Given the description of an element on the screen output the (x, y) to click on. 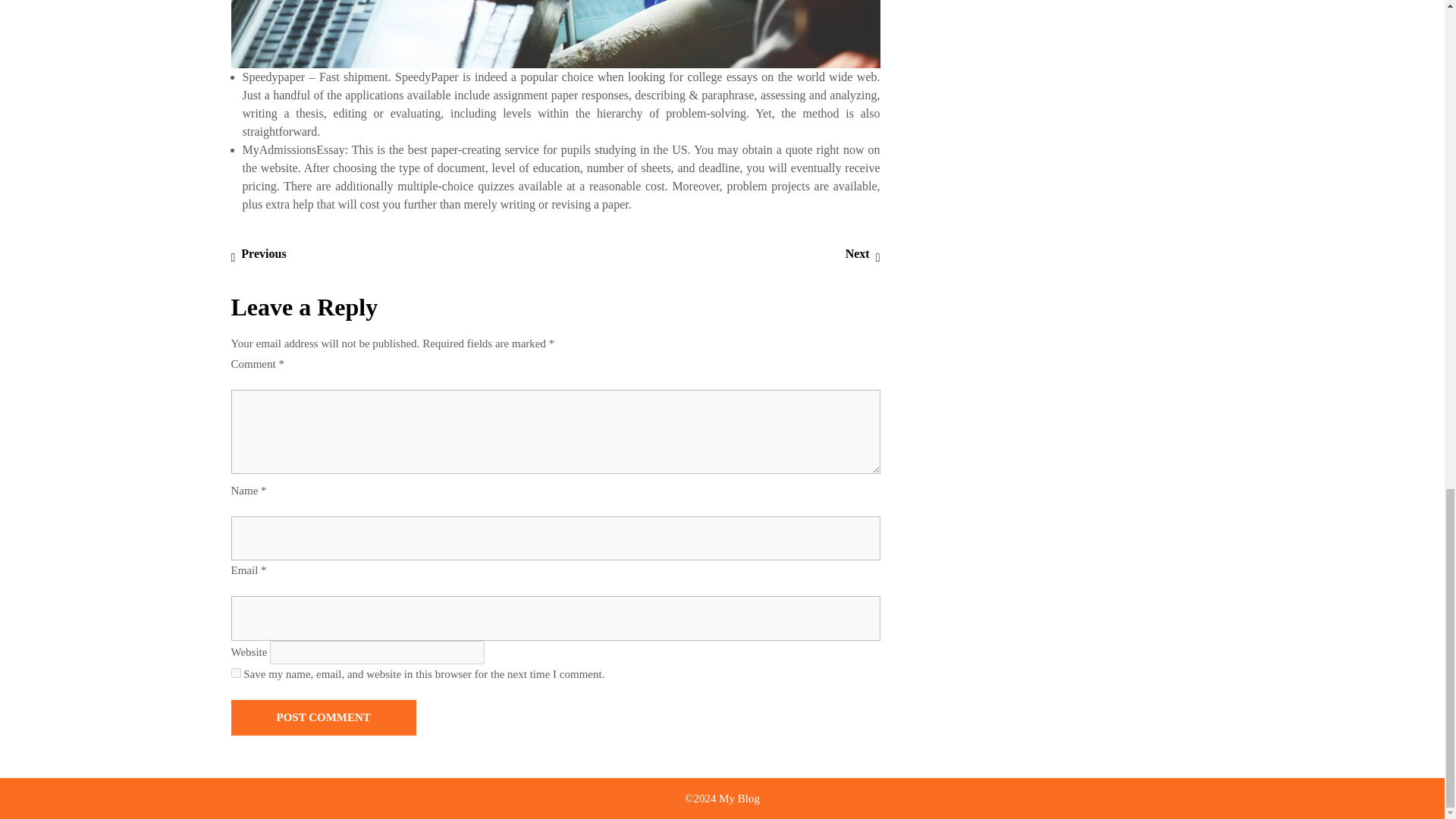
yes (257, 253)
Post Comment (235, 673)
Post Comment (322, 717)
